Given the description of an element on the screen output the (x, y) to click on. 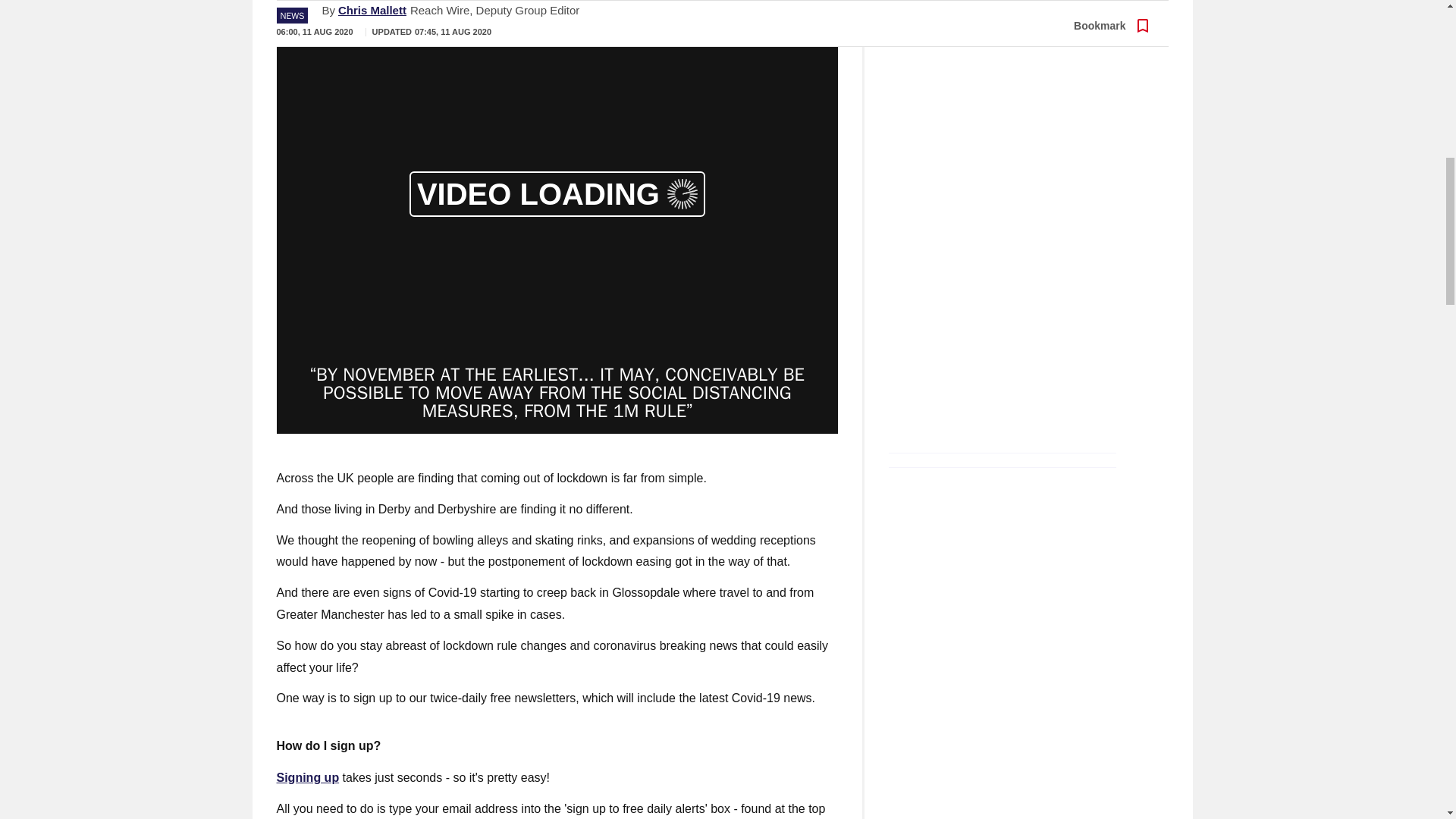
Go (423, 12)
